Given the description of an element on the screen output the (x, y) to click on. 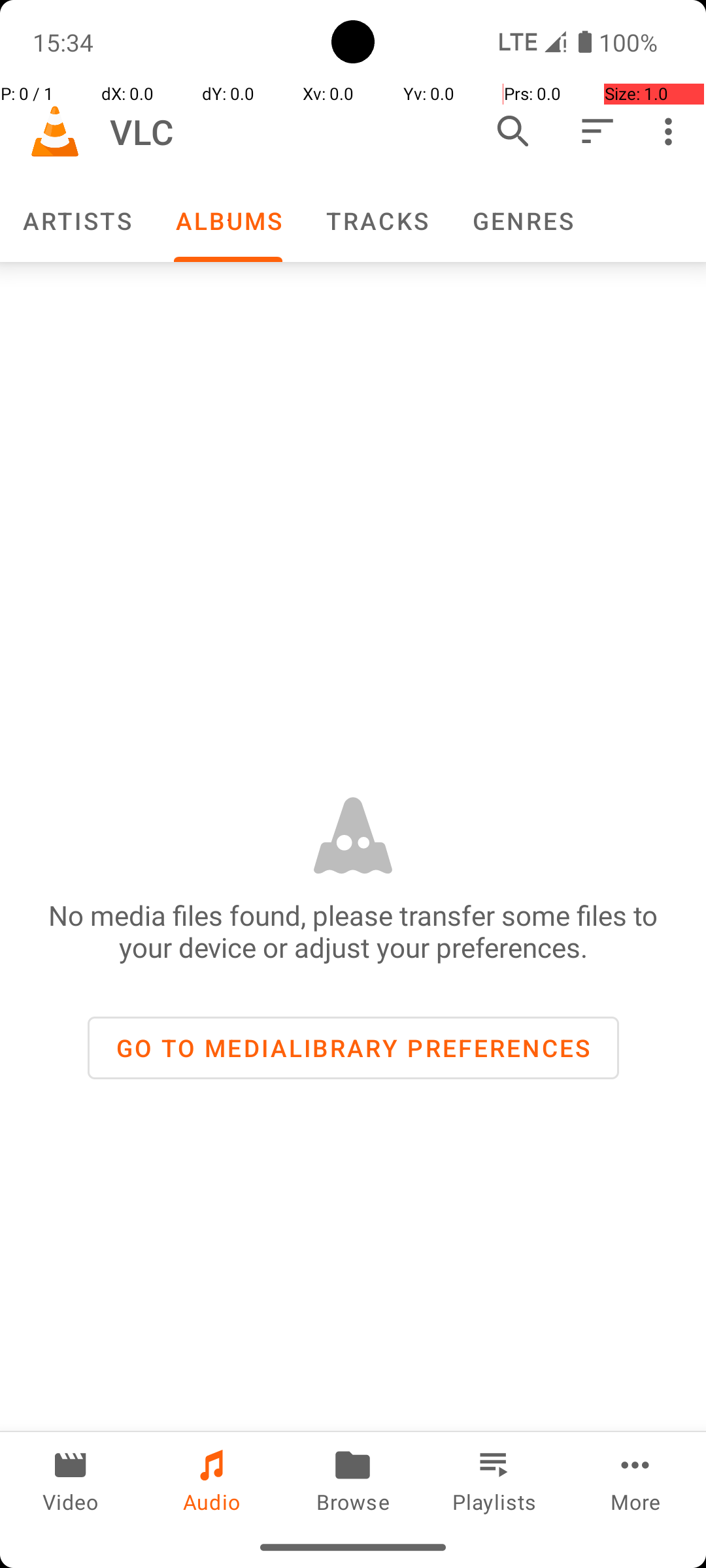
GO TO MEDIALIBRARY PREFERENCES Element type: android.widget.Button (353, 1047)
